Given the description of an element on the screen output the (x, y) to click on. 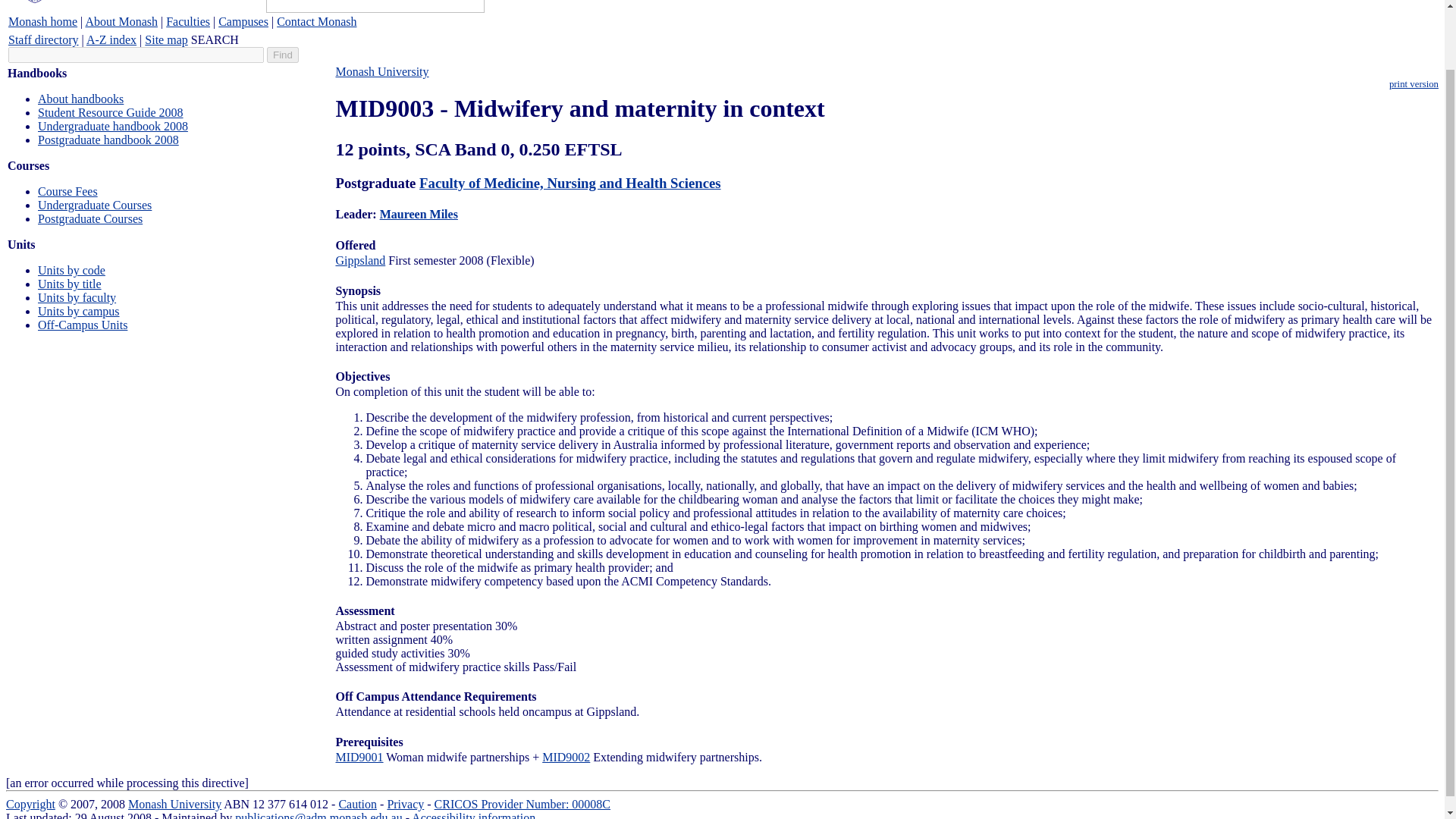
A-Z index (110, 39)
Undergraduate handbook 2008 (112, 125)
Faculty of Medicine, Nursing and Health Sciences (569, 182)
Privacy (405, 803)
Gippsland (359, 259)
Undergraduate Courses (94, 205)
Caution (357, 803)
About Monash (120, 21)
MID9002 (565, 757)
Copyright (30, 803)
